Given the description of an element on the screen output the (x, y) to click on. 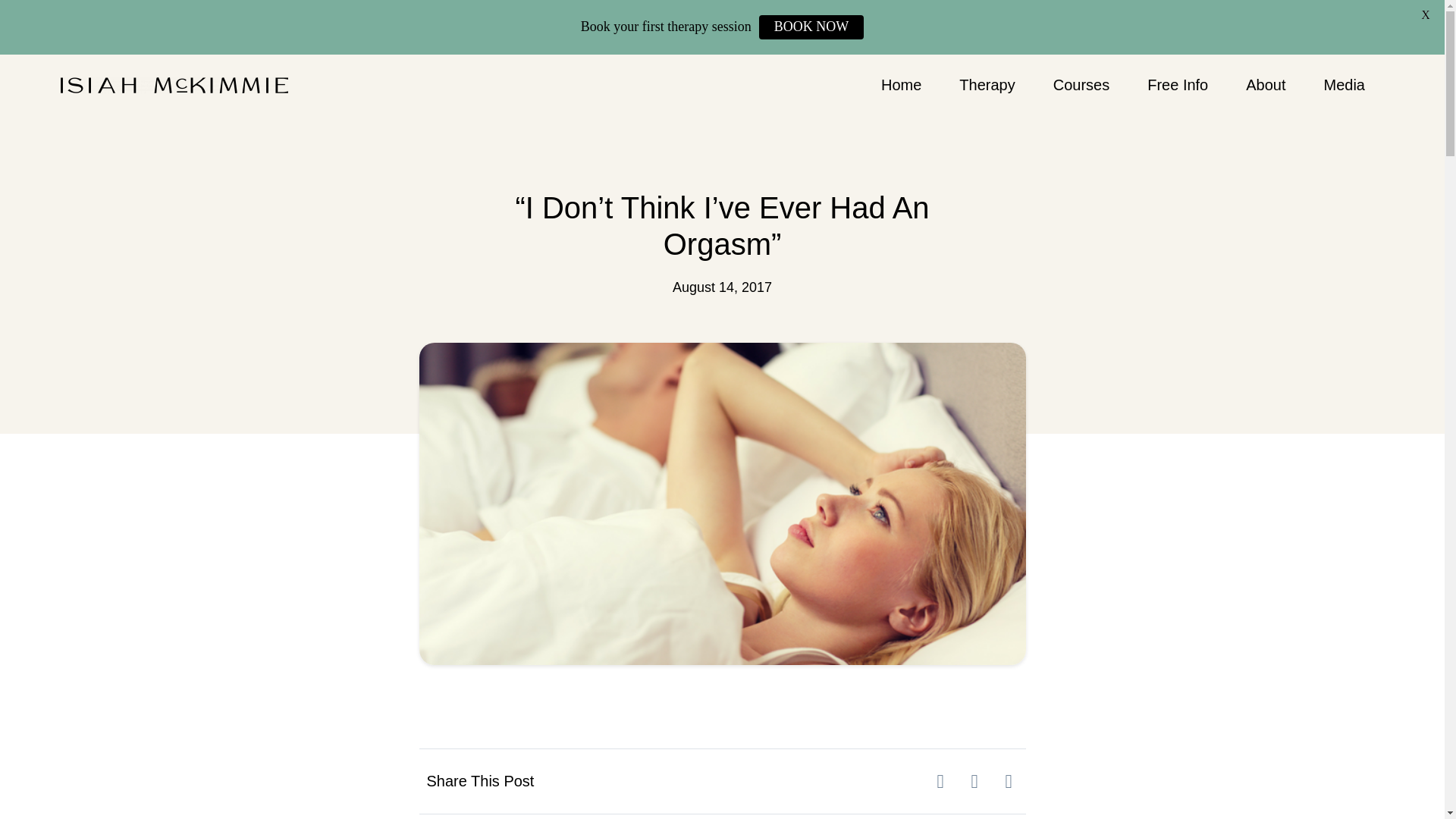
Free Info (1177, 84)
About (1265, 84)
Therapy (986, 84)
Home (900, 84)
Media (1344, 84)
Courses (1080, 84)
